Given the description of an element on the screen output the (x, y) to click on. 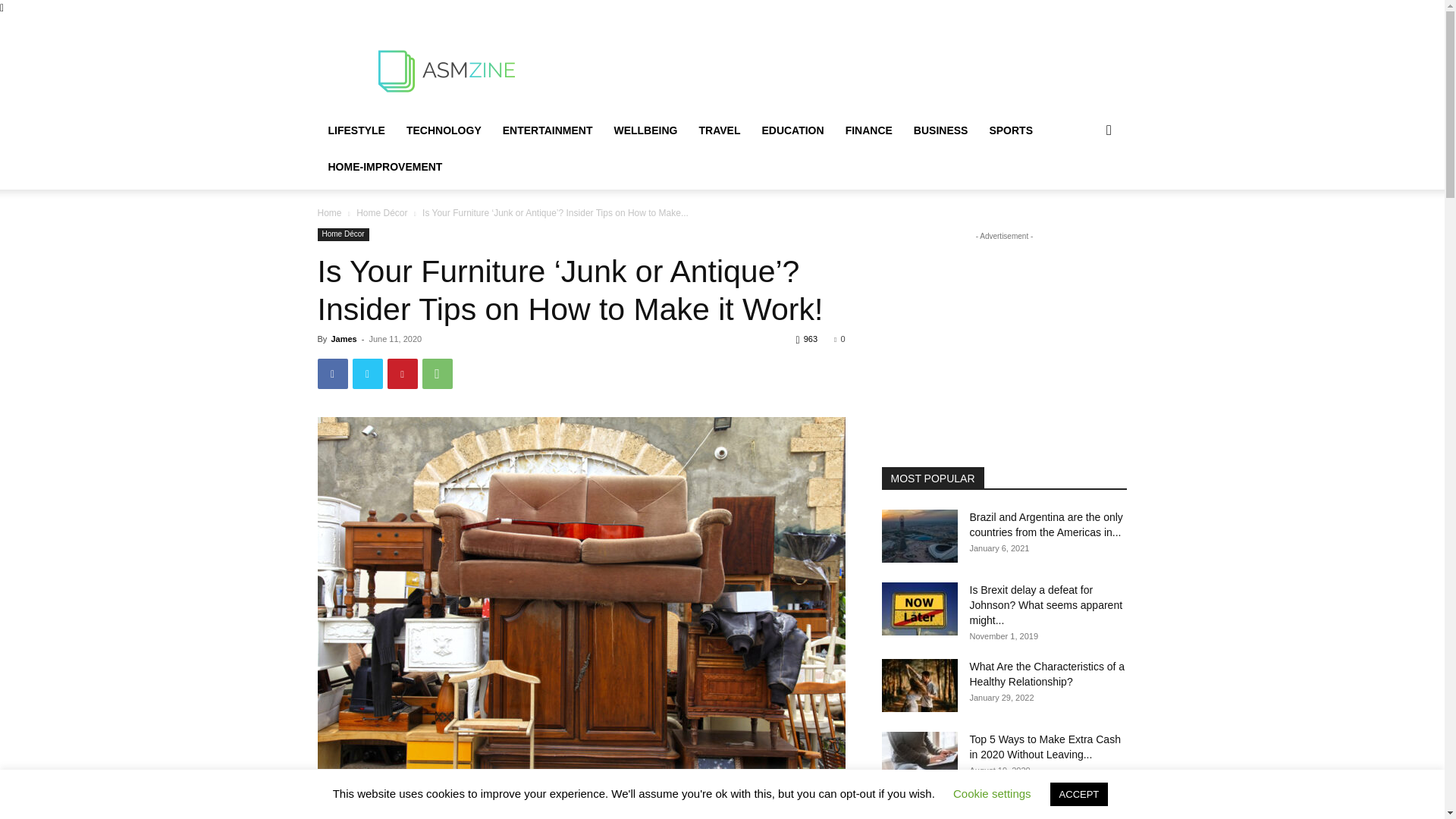
Twitter (366, 373)
0 (839, 338)
EDUCATION (792, 130)
WELLBEING (644, 130)
FINANCE (868, 130)
SPORTS (1010, 130)
Facebook (332, 373)
TECHNOLOGY (444, 130)
Pinterest (401, 373)
Home (328, 213)
